Given the description of an element on the screen output the (x, y) to click on. 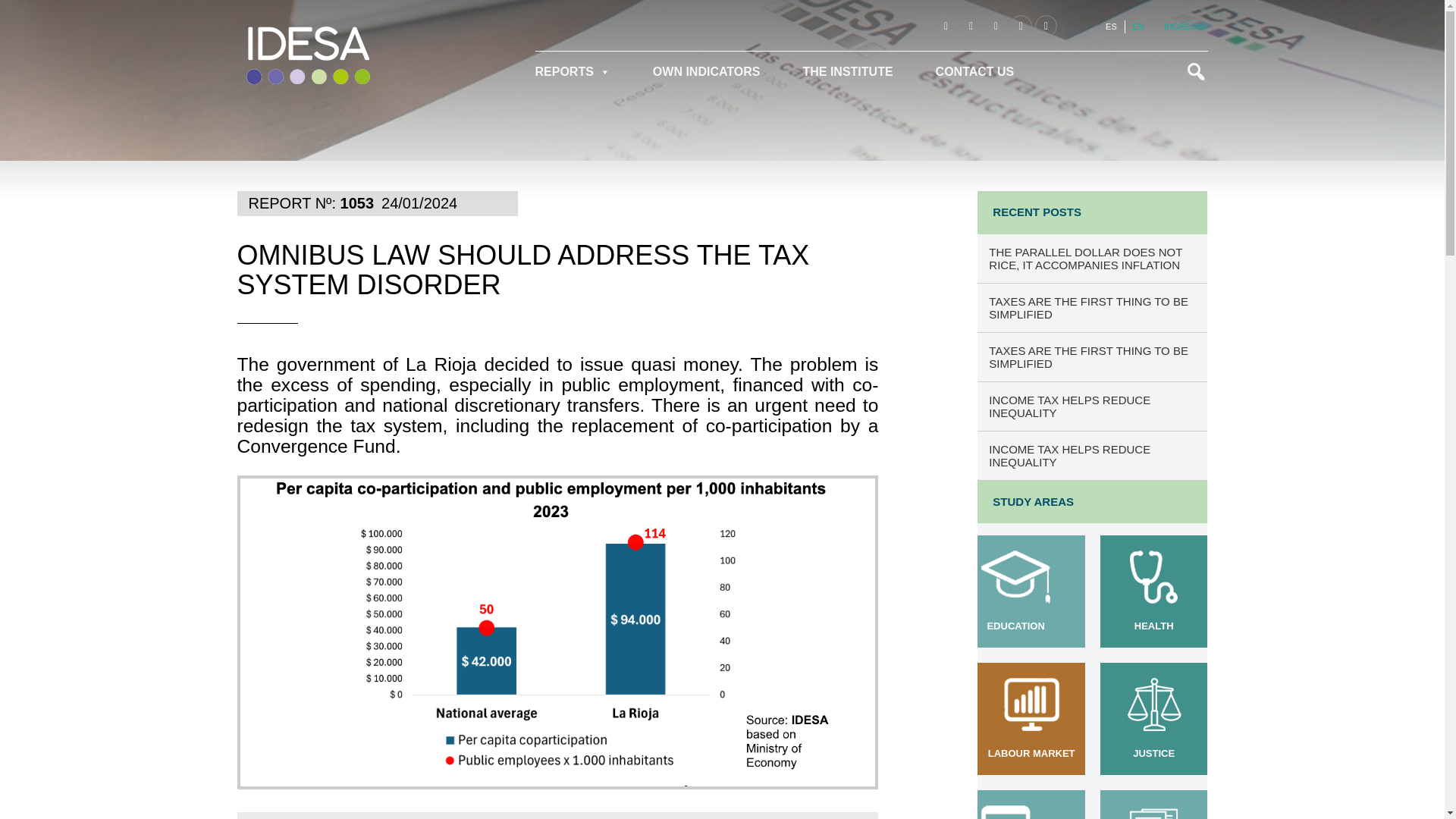
INGRESAR (1185, 26)
OWN INDICATORS (706, 71)
TAXES ARE THE FIRST THING TO BE SIMPLIFIED (1091, 356)
TAXES ARE THE FIRST THING TO BE SIMPLIFIED (1091, 307)
INCOME TAX HELPS REDUCE INEQUALITY (1091, 454)
INCOME TAX HELPS REDUCE INEQUALITY (1091, 406)
CONTACT US (974, 71)
THE INSTITUTE (847, 71)
THE PARALLEL DOLLAR DOES NOT RICE, IT ACCOMPANIES INFLATION (1091, 257)
REPORTS (583, 71)
